Given the description of an element on the screen output the (x, y) to click on. 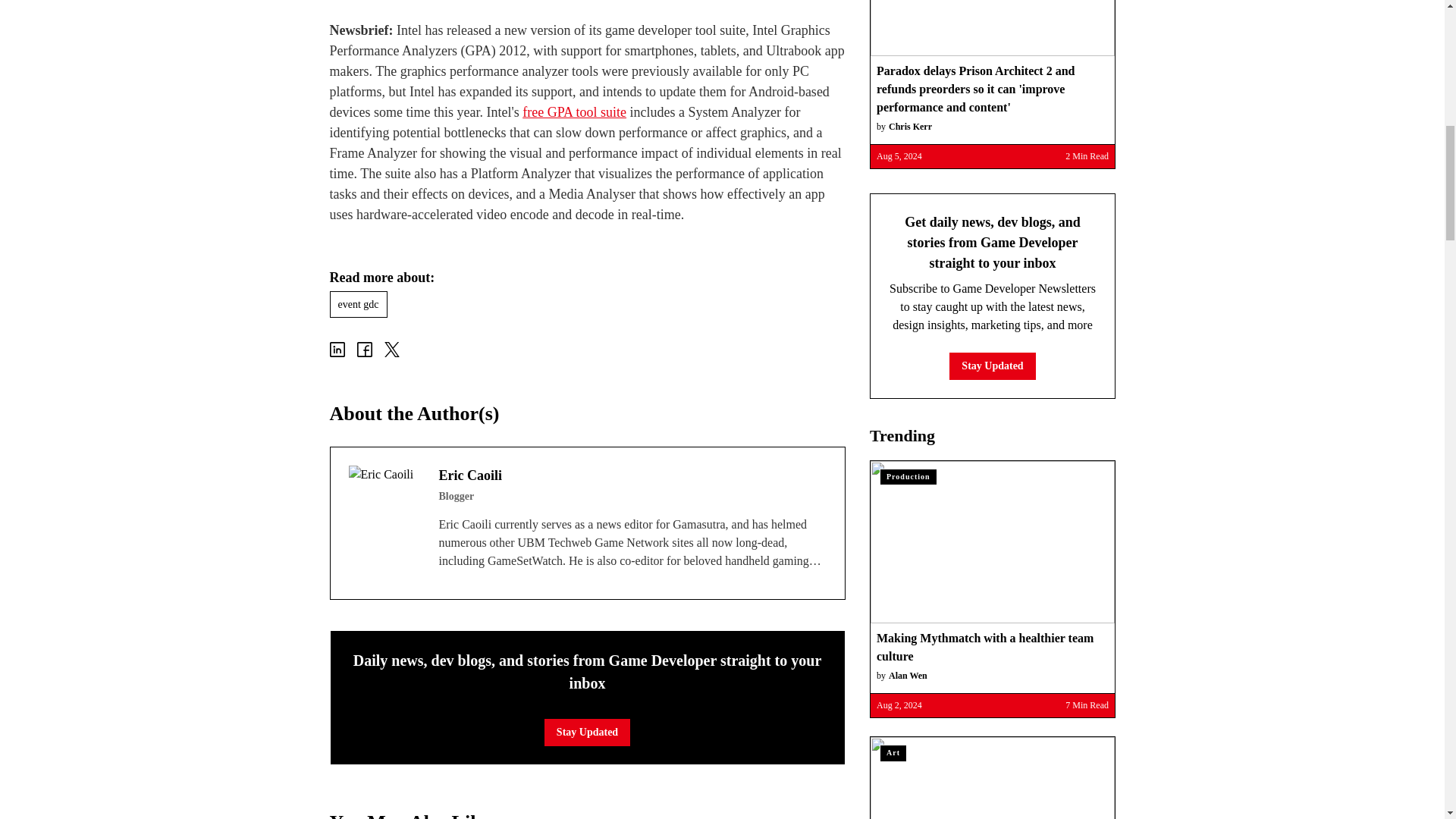
Eric Caoili (384, 501)
